Given the description of an element on the screen output the (x, y) to click on. 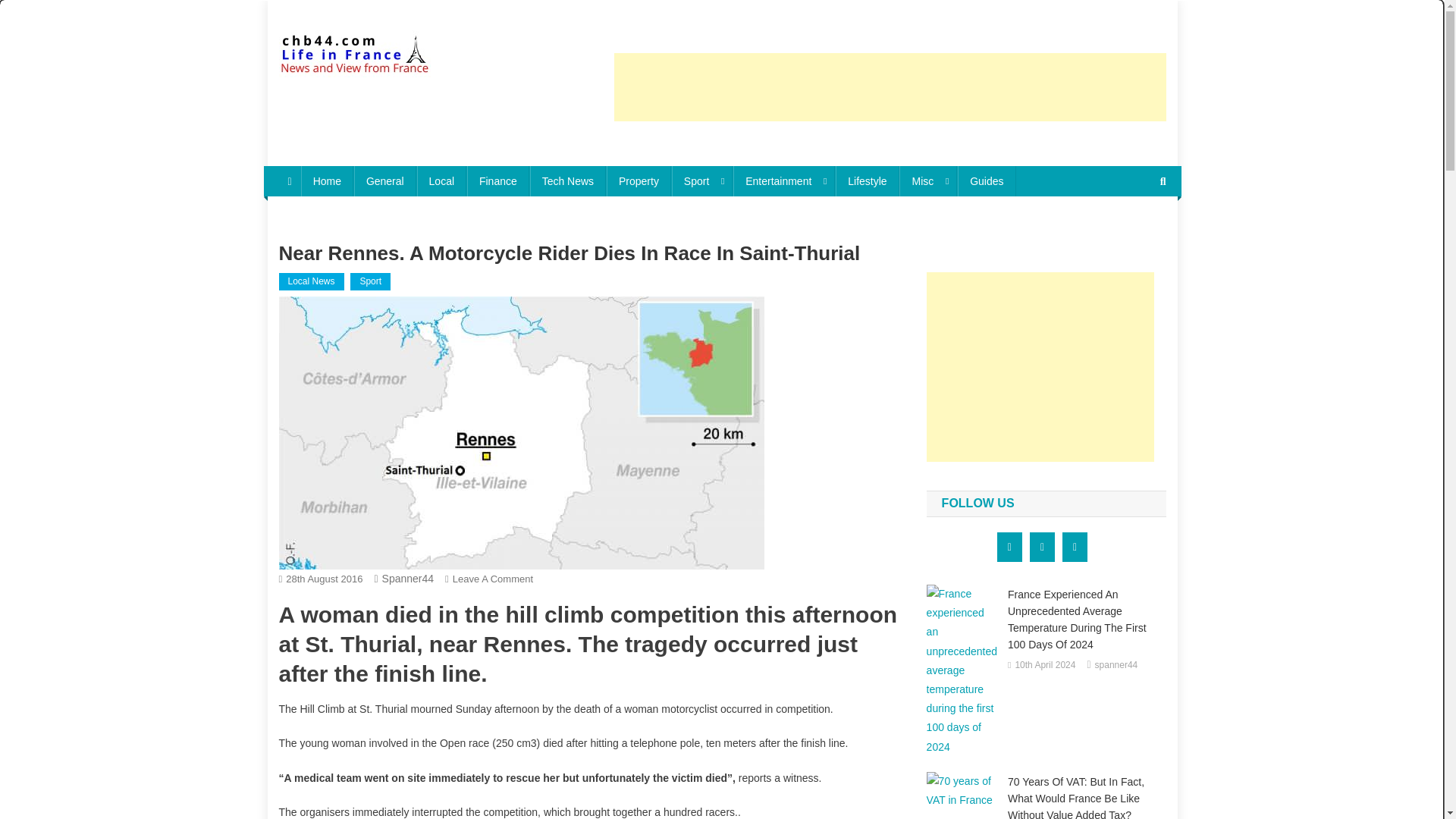
Search (1133, 231)
Spanner44 (407, 578)
Sport (701, 181)
Local News (311, 281)
Local (440, 181)
General (384, 181)
Tech News (567, 181)
Lifestyle (866, 181)
Finance (498, 181)
